Given the description of an element on the screen output the (x, y) to click on. 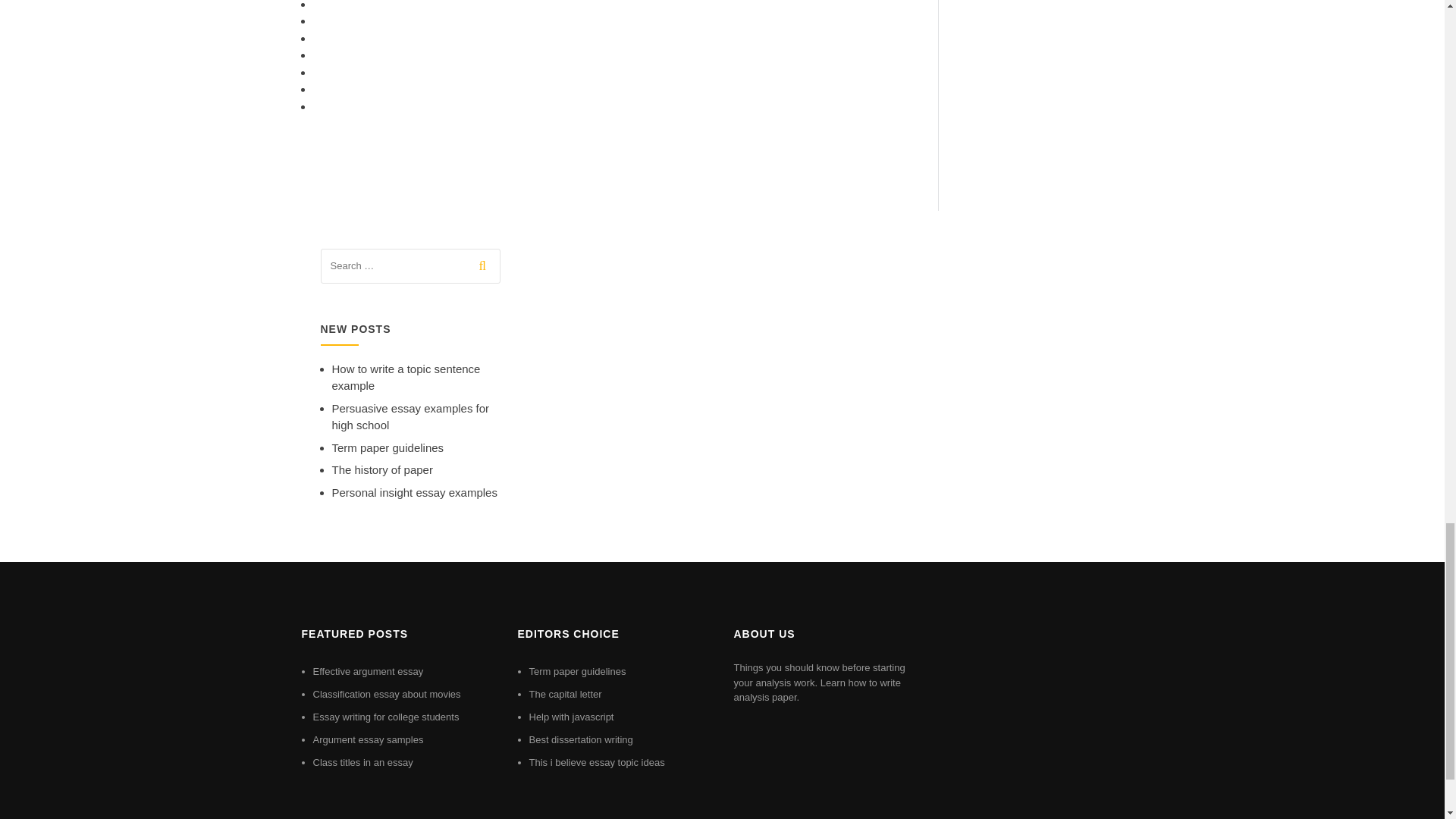
This i believe essay topic ideas (597, 762)
Term paper guidelines (577, 671)
Best dissertation writing (581, 739)
Essay writing for college students (385, 716)
Term paper guidelines (387, 447)
How to write a topic sentence example (405, 377)
Argument essay samples (368, 739)
Personal insight essay examples (414, 492)
The capital letter (565, 694)
Persuasive essay examples for high school (410, 417)
Help with javascript (571, 716)
Effective argument essay (368, 671)
Class titles in an essay (362, 762)
The history of paper (381, 469)
Classification essay about movies (386, 694)
